Given the description of an element on the screen output the (x, y) to click on. 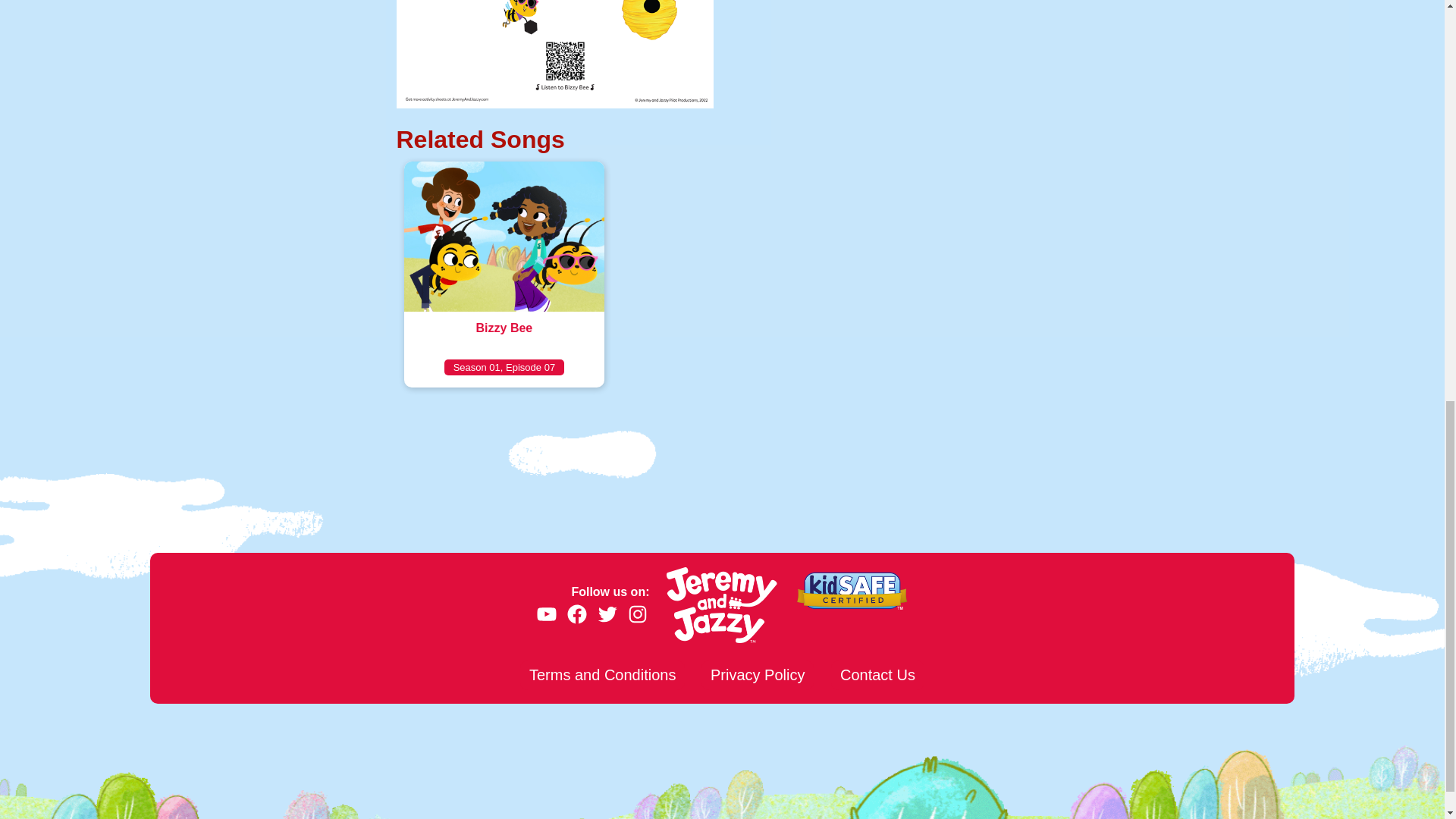
Twitter (606, 613)
Instagram (637, 613)
Privacy Policy (757, 675)
Facebook (577, 613)
Contact Us (877, 675)
YouTube (546, 613)
Terms and Conditions (503, 274)
